Given the description of an element on the screen output the (x, y) to click on. 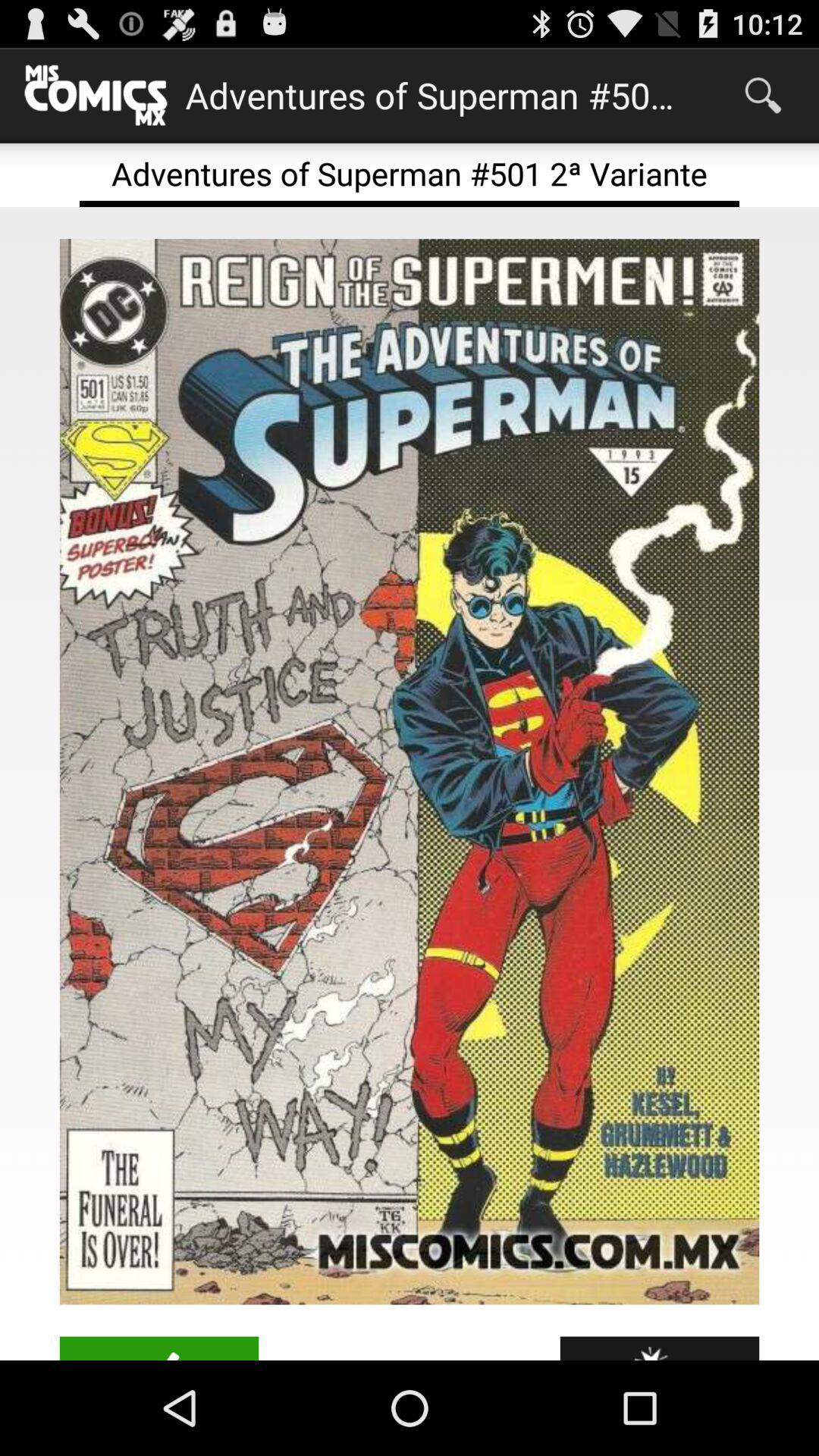
turn off the icon at the bottom left corner (158, 1348)
